Given the description of an element on the screen output the (x, y) to click on. 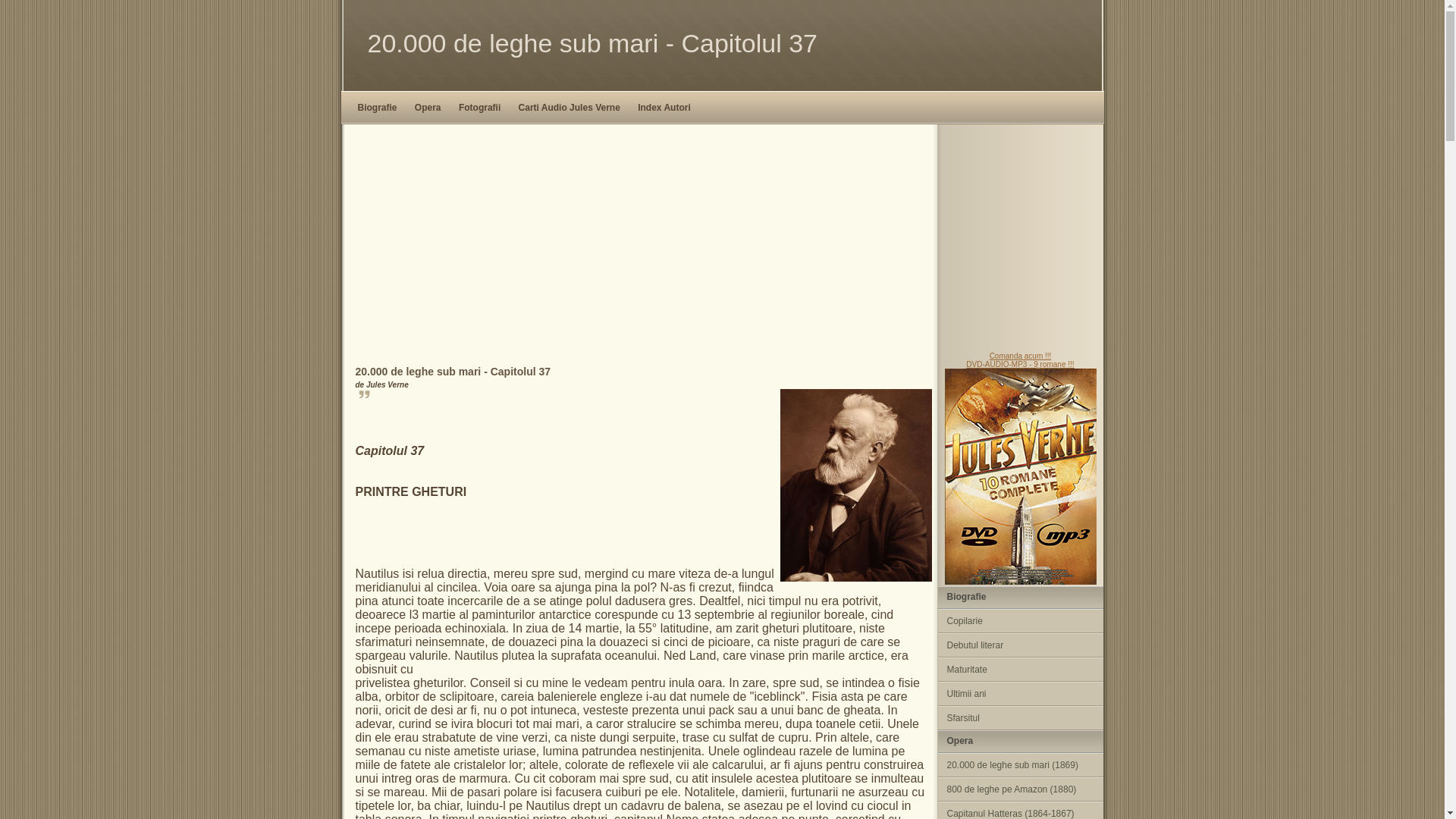
Maturitate Element type: text (1019, 669)
800 de leghe pe Amazon (1880) Element type: text (1019, 789)
Advertisement Element type: hover (721, 237)
Opera Element type: text (427, 107)
Carti Audio Jules Verne Element type: text (569, 107)
Ultimii ani Element type: text (1019, 693)
Fotografii Element type: text (479, 107)
20.000 de leghe sub mari (1869) Element type: text (1019, 764)
Biografie Element type: text (377, 107)
Index Autori Element type: text (663, 107)
Copilarie Element type: text (1019, 620)
Comanda acum !!!
DVD-AUDIO-MP3 - 9 romane !!! Element type: text (1020, 468)
Sfarsitul Element type: text (1019, 717)
Debutul literar Element type: text (1019, 644)
